Given the description of an element on the screen output the (x, y) to click on. 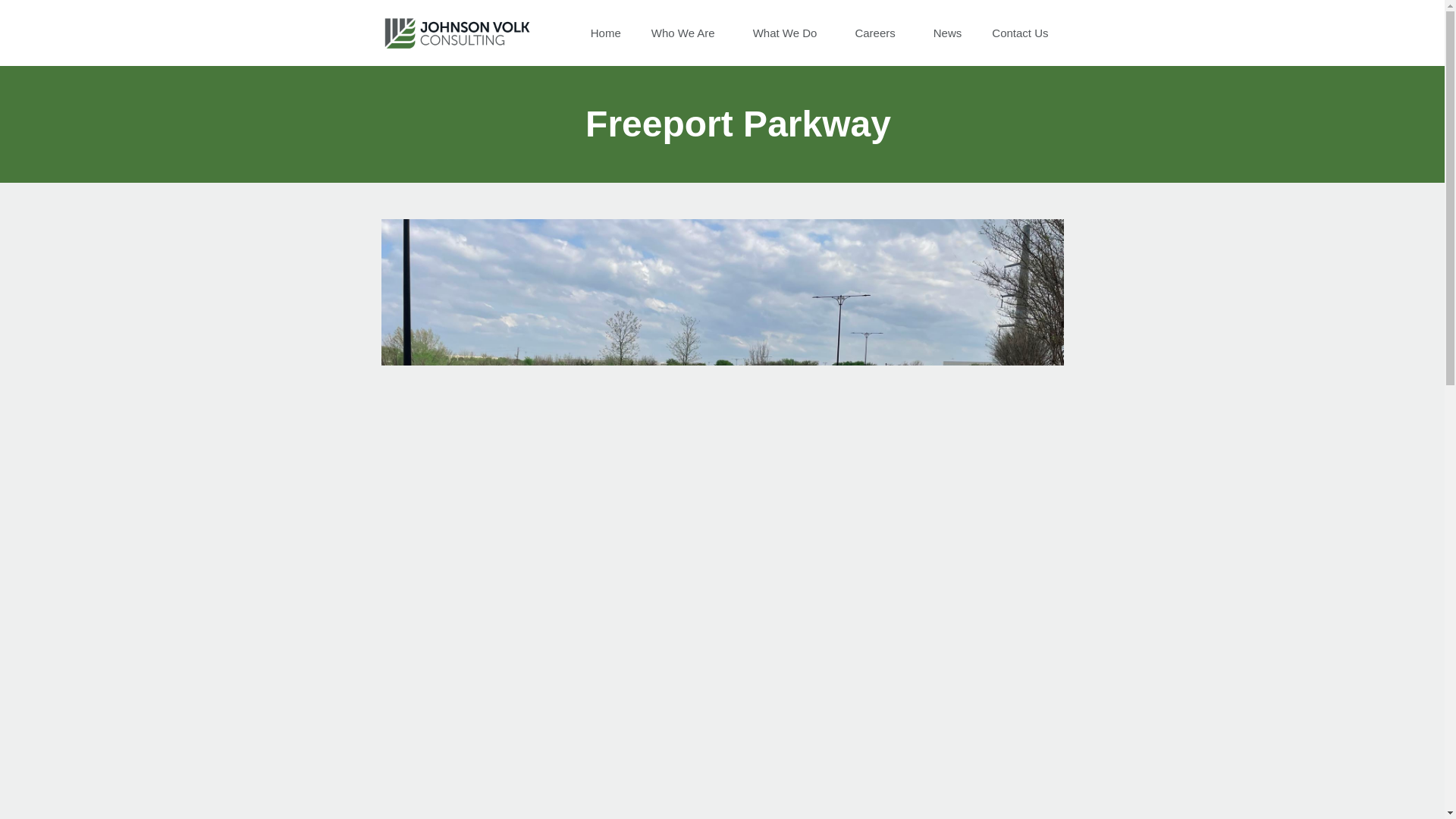
Contact Us (1019, 33)
Careers (878, 33)
Who We Are (687, 33)
News (947, 33)
Home (605, 33)
What We Do (789, 33)
